Given the description of an element on the screen output the (x, y) to click on. 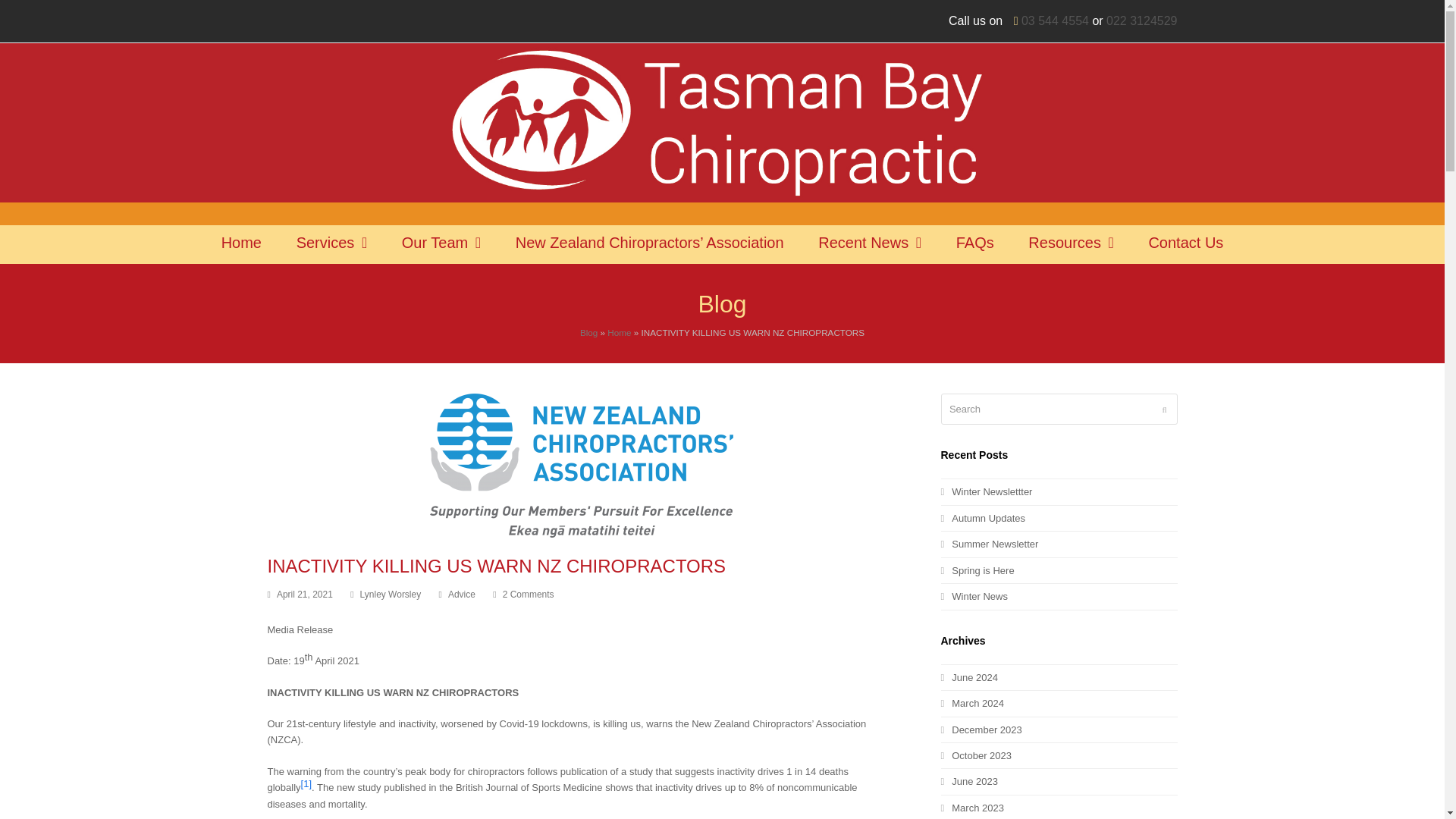
Home (241, 244)
03 544 4554 (1055, 20)
Advice (462, 593)
Resources (1070, 244)
022 3124529 (1141, 20)
Services (332, 244)
Recent News (869, 244)
FAQs (975, 244)
Contact Us (1185, 244)
Our Team (440, 244)
2 Comments (523, 595)
Posts by Lynley Worsley (390, 593)
